Given the description of an element on the screen output the (x, y) to click on. 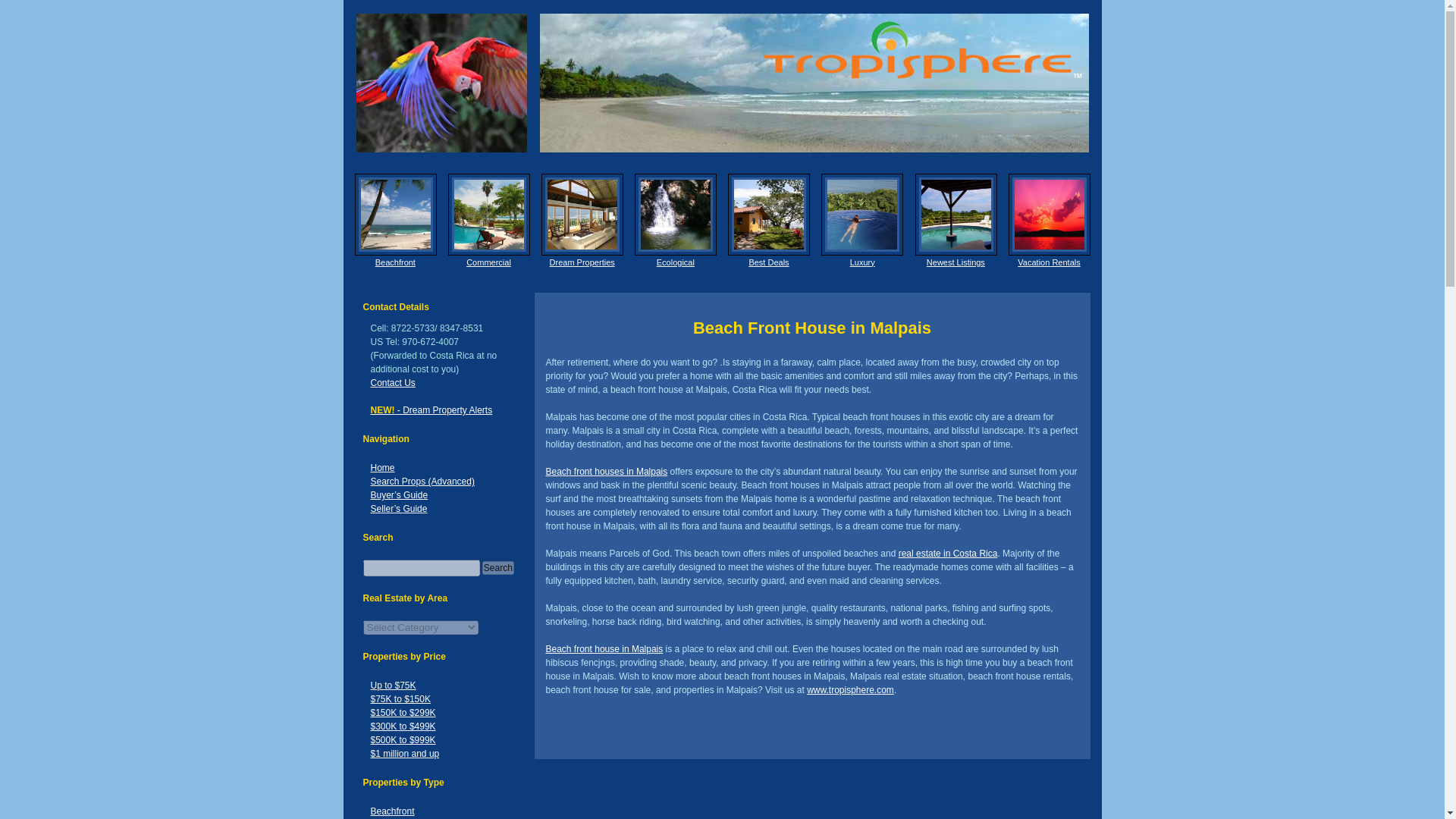
Luxury (861, 214)
Commercial (488, 261)
Tropisphere Costa Rica Real Estate (721, 83)
Beachfront (391, 810)
Vacation Rentals (1048, 261)
Newest Listings (956, 214)
Best Deals (768, 261)
Newest Listings (955, 261)
Search (497, 567)
Luxury (862, 261)
Ecological (675, 261)
Concierge Service (582, 214)
Contact Us (391, 382)
Commercial (488, 214)
Dream Properties (582, 261)
